Given the description of an element on the screen output the (x, y) to click on. 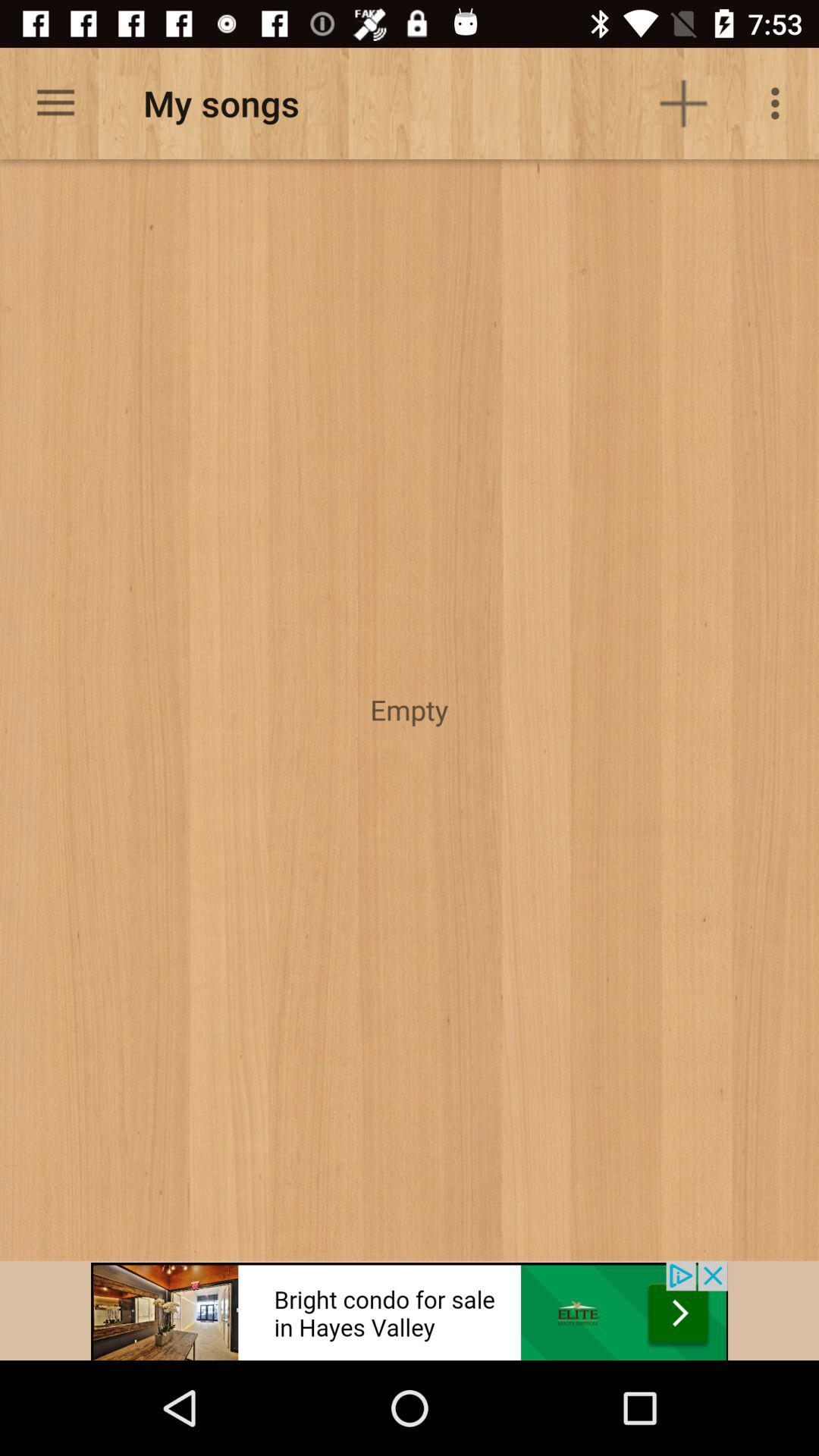
advertisement area (409, 1310)
